Given the description of an element on the screen output the (x, y) to click on. 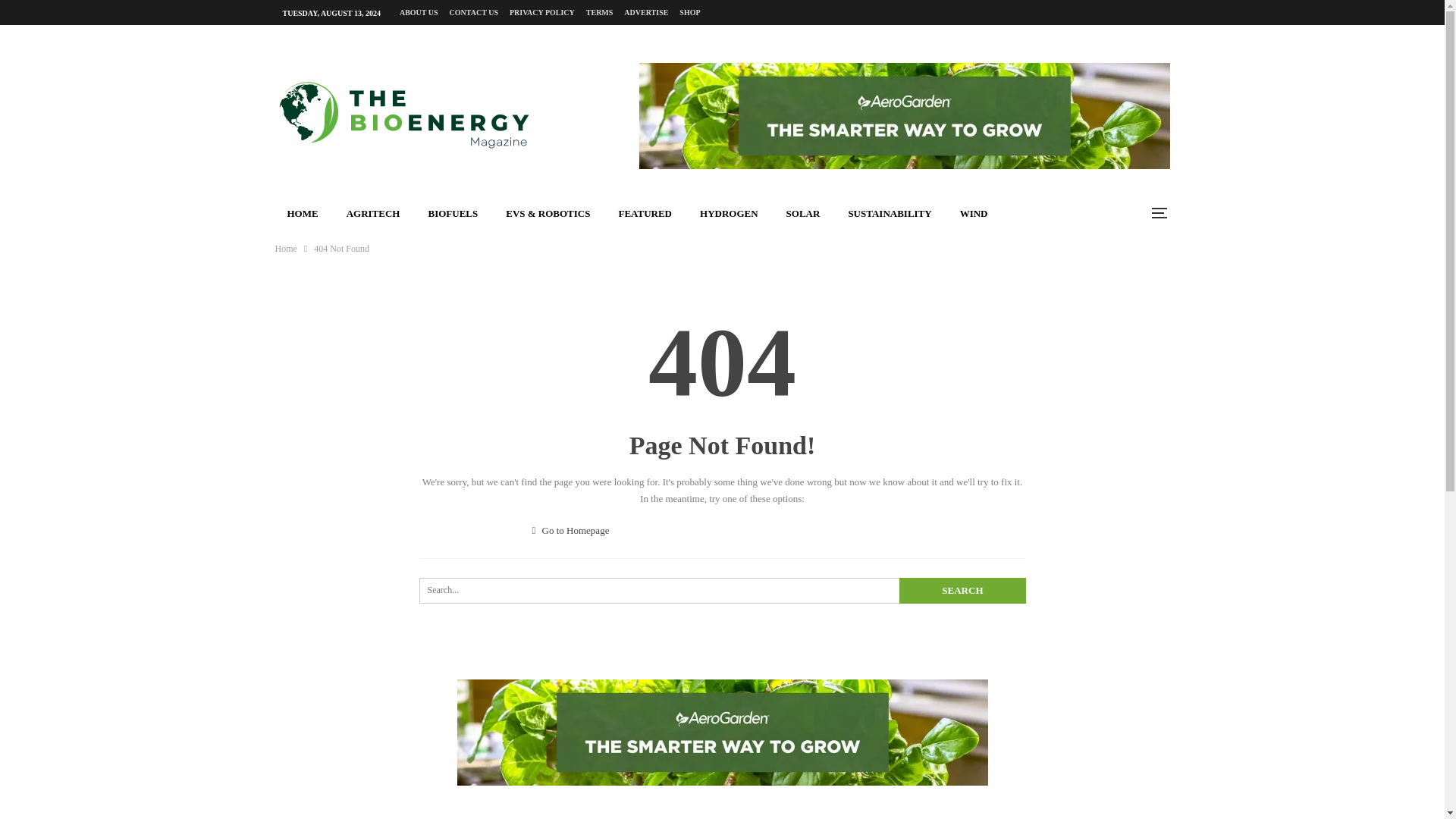
CONTACT US (473, 12)
AGRITECH (373, 213)
TERMS (599, 12)
FEATURED (644, 213)
HOME (302, 213)
WIND (973, 213)
PRIVACY POLICY (542, 12)
SOLAR (803, 213)
ABOUT US (418, 12)
Go to Homepage (571, 530)
